Given the description of an element on the screen output the (x, y) to click on. 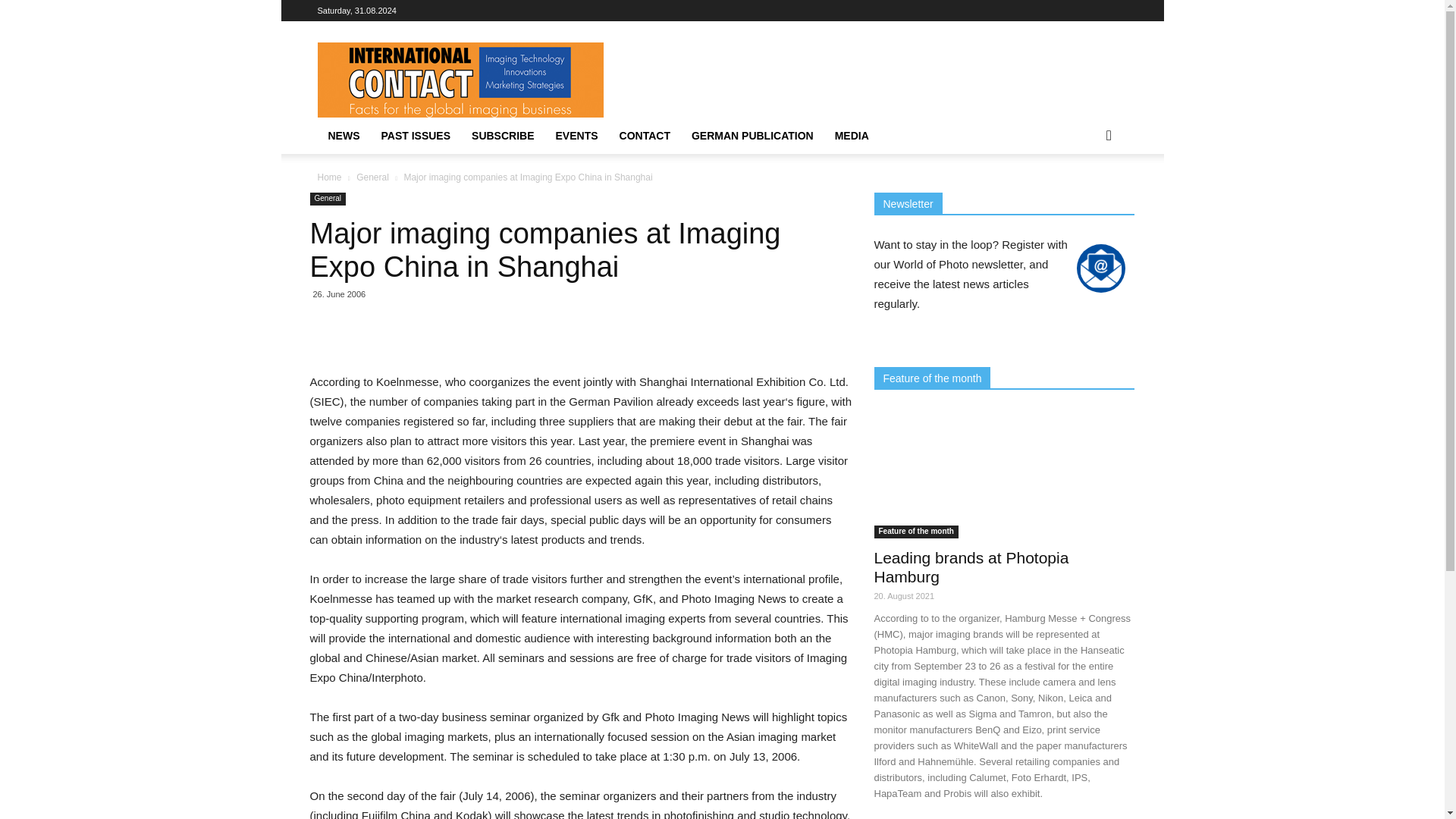
NEWS (343, 135)
Home (328, 176)
EVENTS (576, 135)
General (327, 198)
MEDIA (851, 135)
View all posts in General (372, 176)
Search (1085, 196)
GERMAN PUBLICATION (752, 135)
SUBSCRIBE (502, 135)
